Given the description of an element on the screen output the (x, y) to click on. 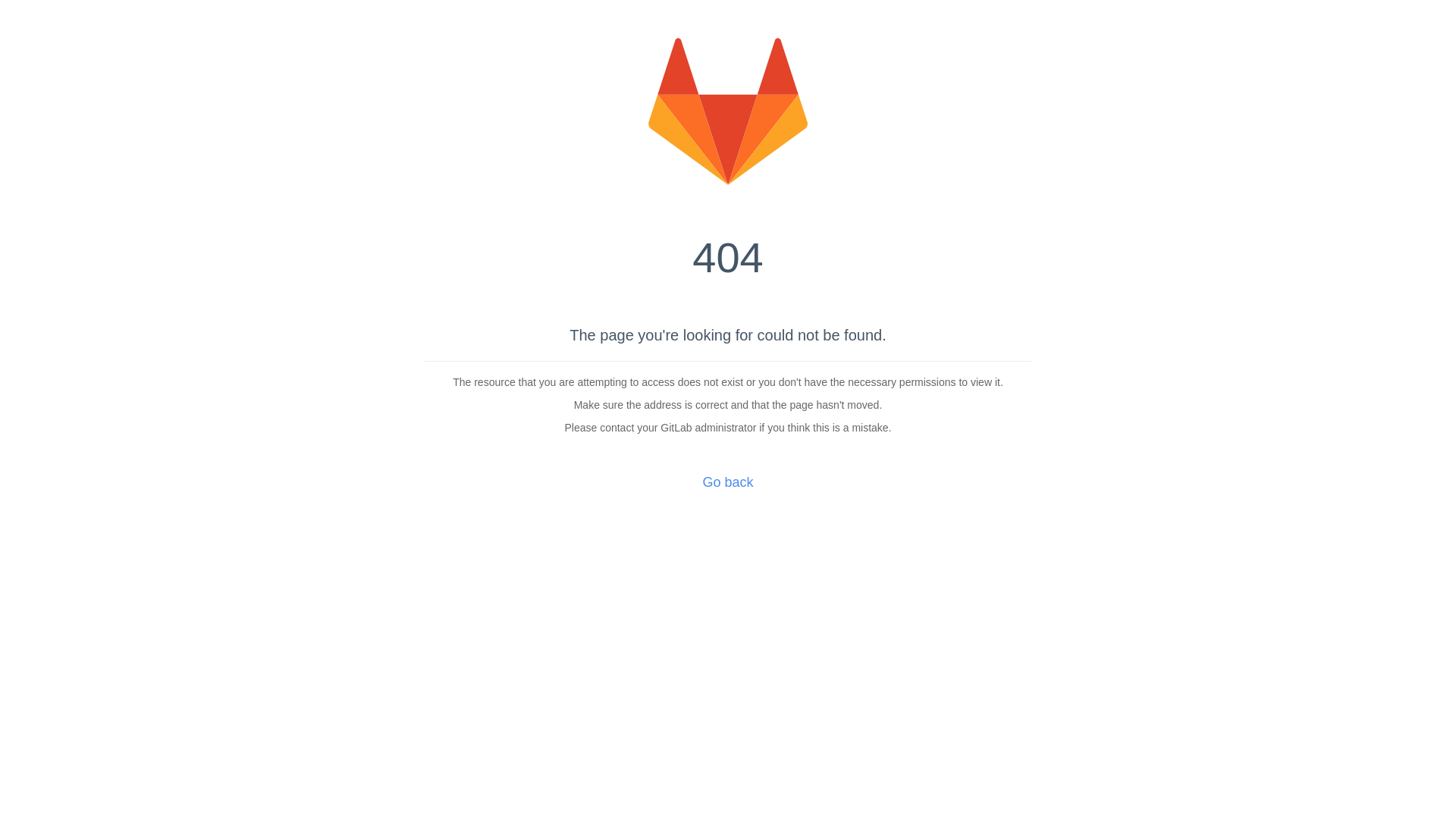
Go back Element type: text (727, 481)
